Given the description of an element on the screen output the (x, y) to click on. 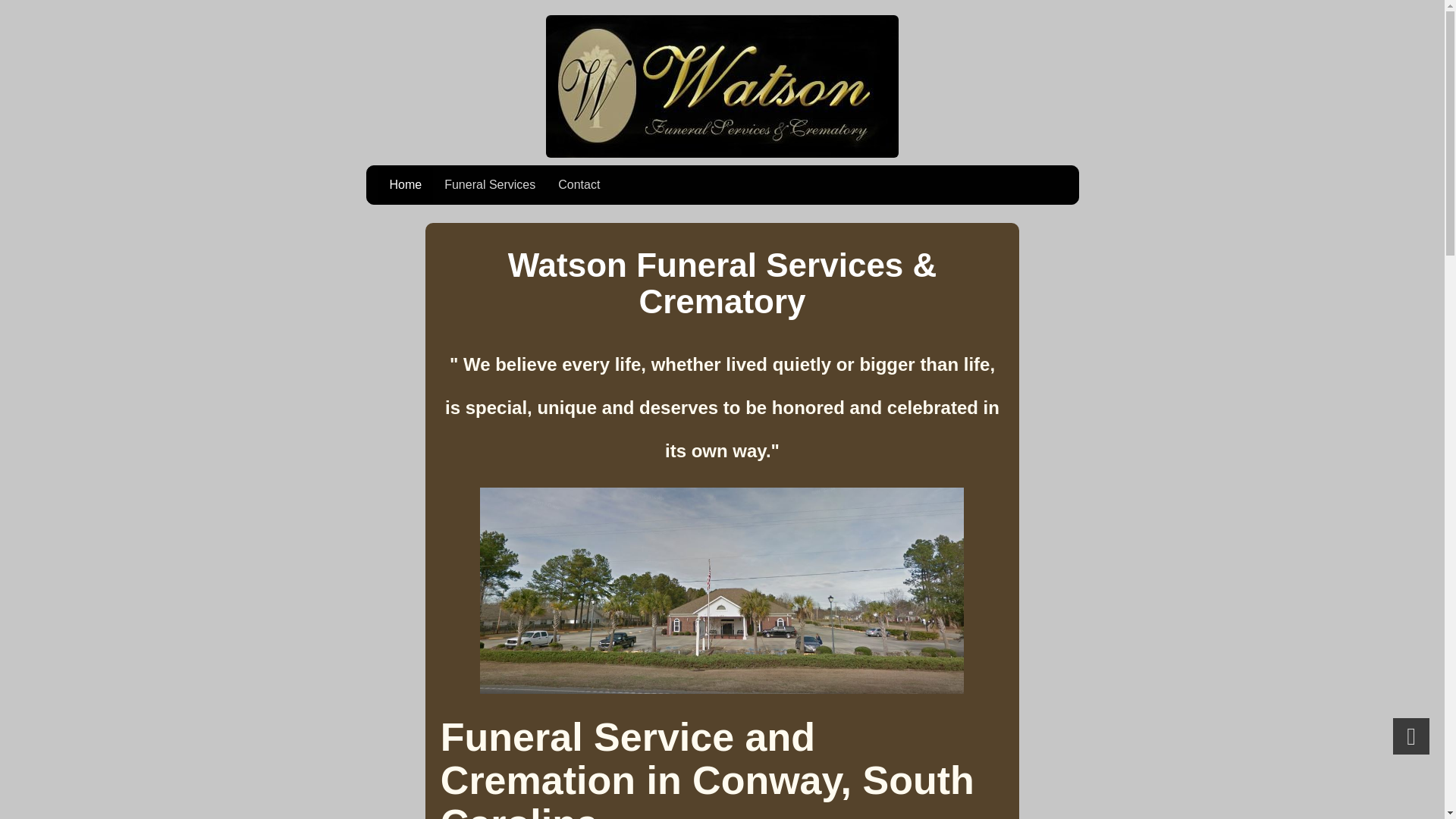
Contact (579, 184)
Funeral Services (489, 184)
Home (404, 184)
Scroll to Top (1411, 736)
